Given the description of an element on the screen output the (x, y) to click on. 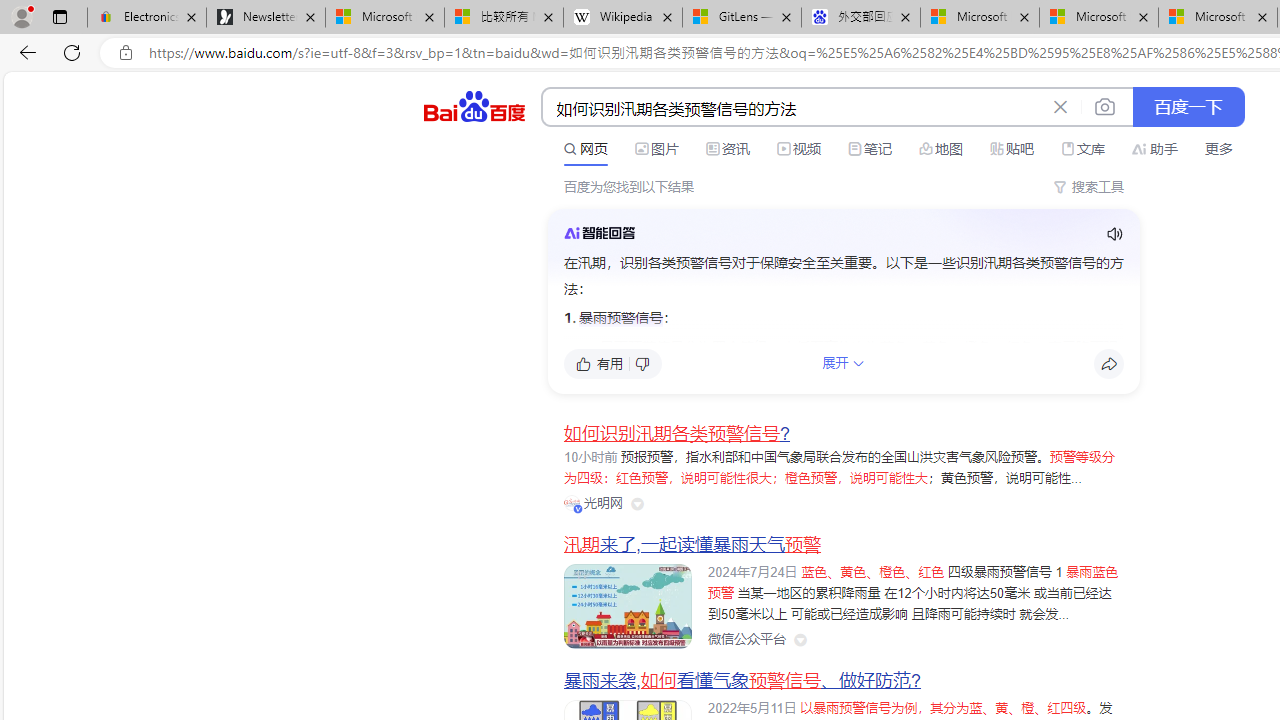
Class: siteLink_9TPP3 (746, 639)
